Given the description of an element on the screen output the (x, y) to click on. 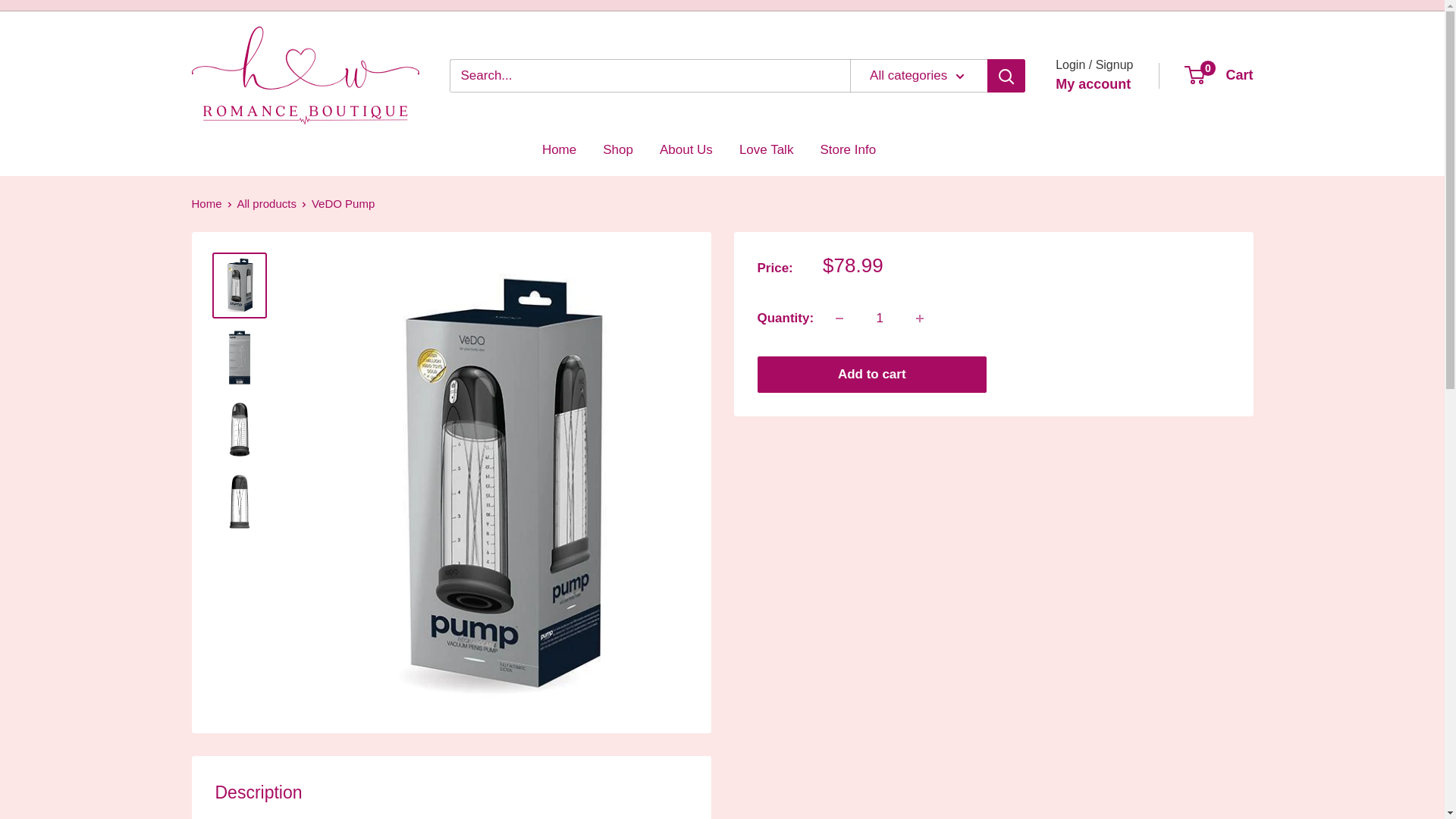
Home (558, 150)
Decrease quantity by 1 (840, 318)
Add to cart (872, 374)
Shop (617, 150)
Home (205, 203)
Increase quantity by 1 (920, 318)
Store Info (847, 150)
All products (267, 203)
About Us (1219, 75)
